Given the description of an element on the screen output the (x, y) to click on. 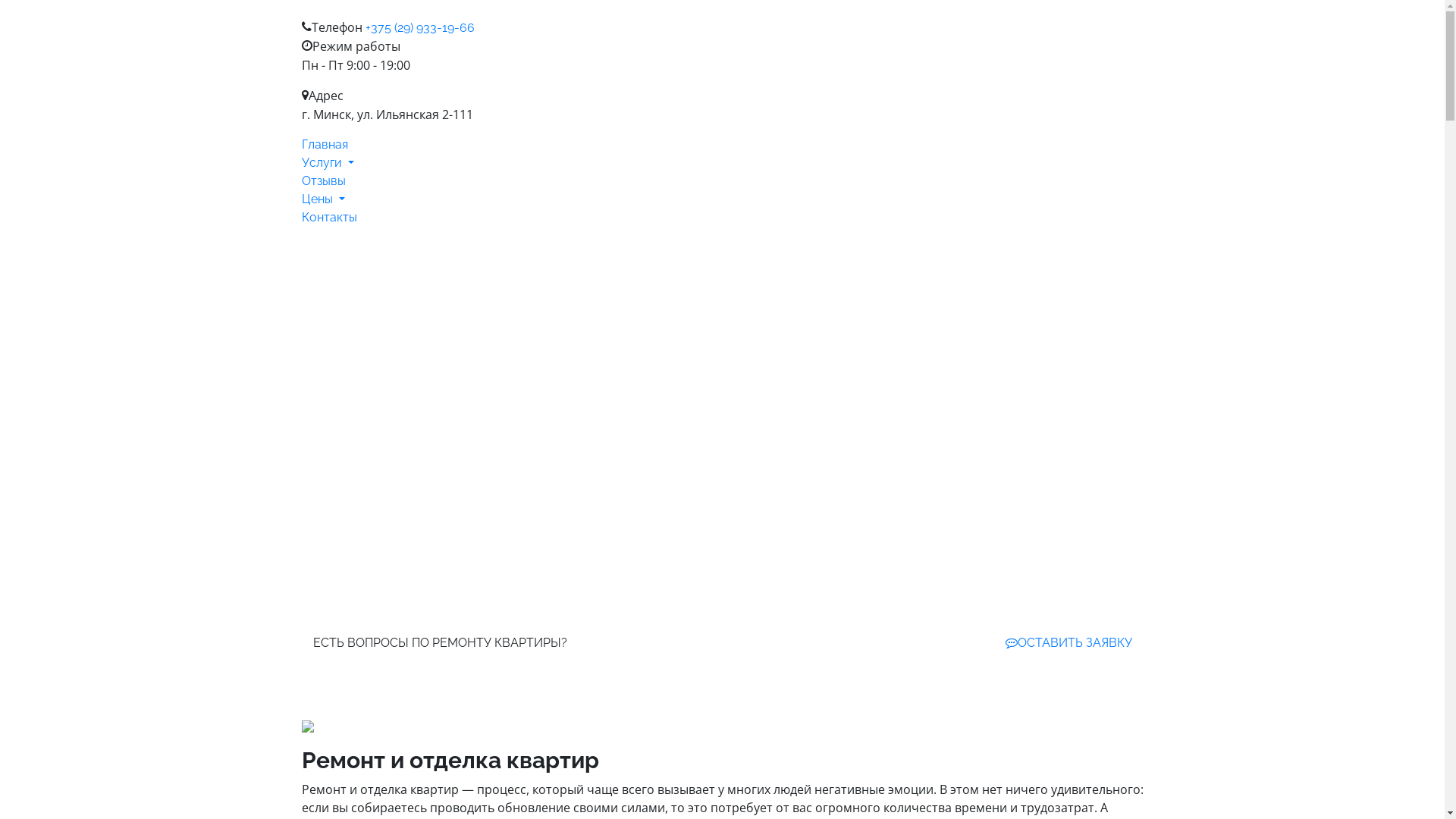
+375 (29) 933-19-66 Element type: text (419, 27)
